Given the description of an element on the screen output the (x, y) to click on. 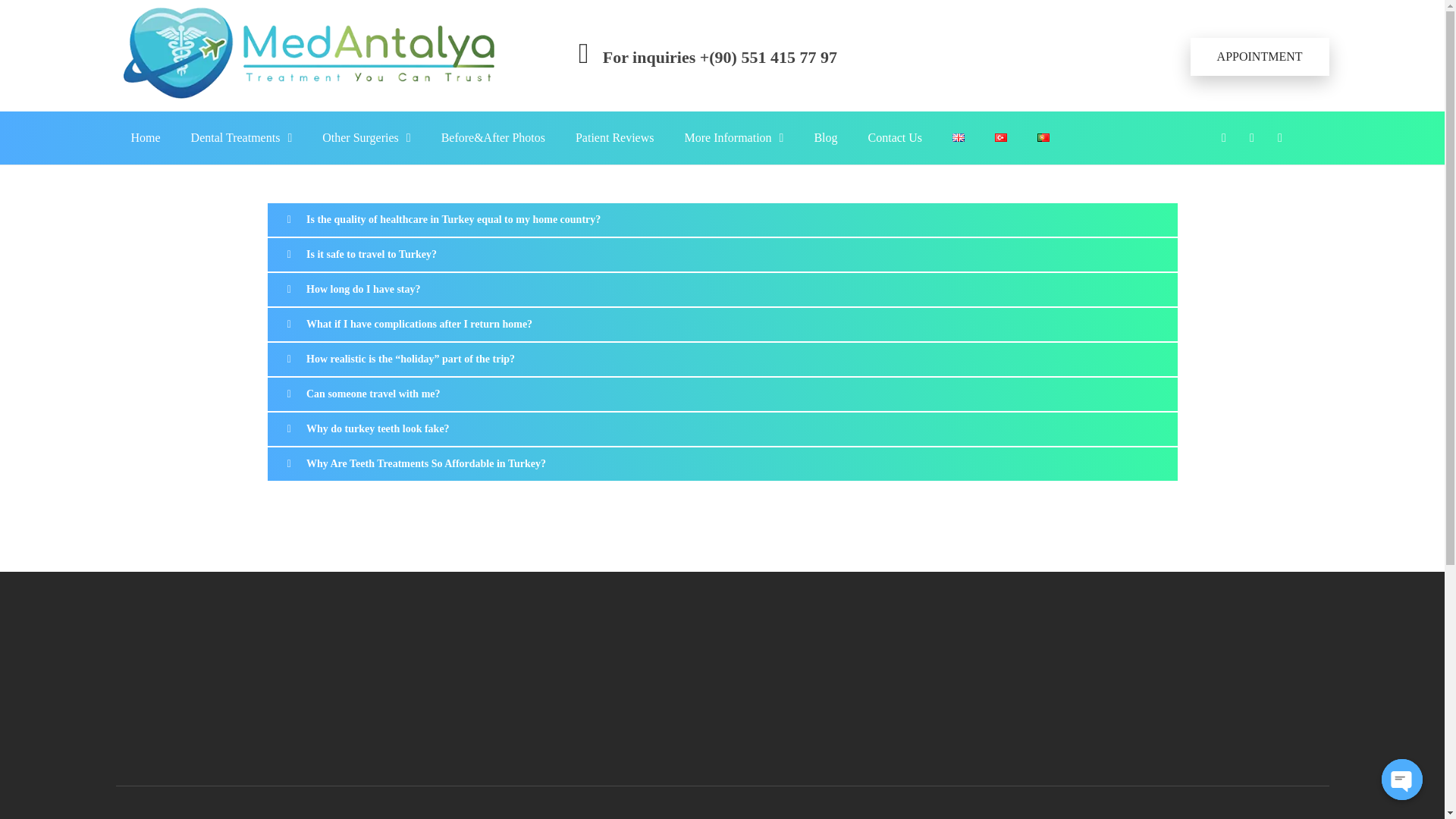
Contact Us (895, 137)
Other Surgeries (366, 136)
More Information (732, 137)
MedAntalya (173, 68)
MedAntalya (338, 52)
Blog (824, 137)
APPOINTMENT (1260, 26)
Dental Treatments (241, 110)
Patient Reviews (614, 137)
MedAntalya (173, 107)
